Given the description of an element on the screen output the (x, y) to click on. 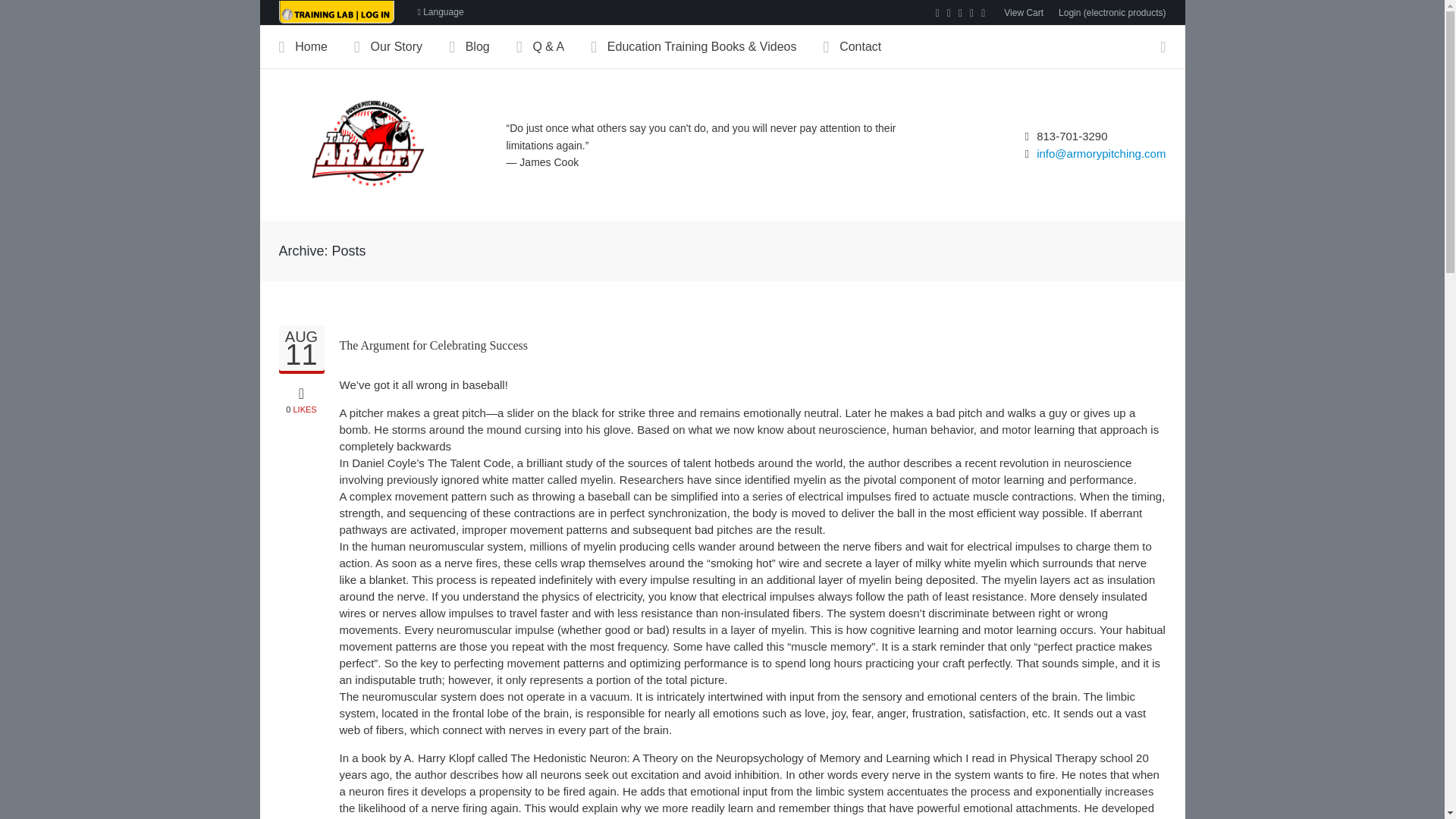
Saturday, August 11th, 2012, 7:57 pm (301, 349)
0 LIKES (301, 349)
Home (301, 397)
Contact (316, 46)
View Cart (864, 46)
Our Story (1023, 12)
Language (400, 46)
Blog (439, 11)
